Given the description of an element on the screen output the (x, y) to click on. 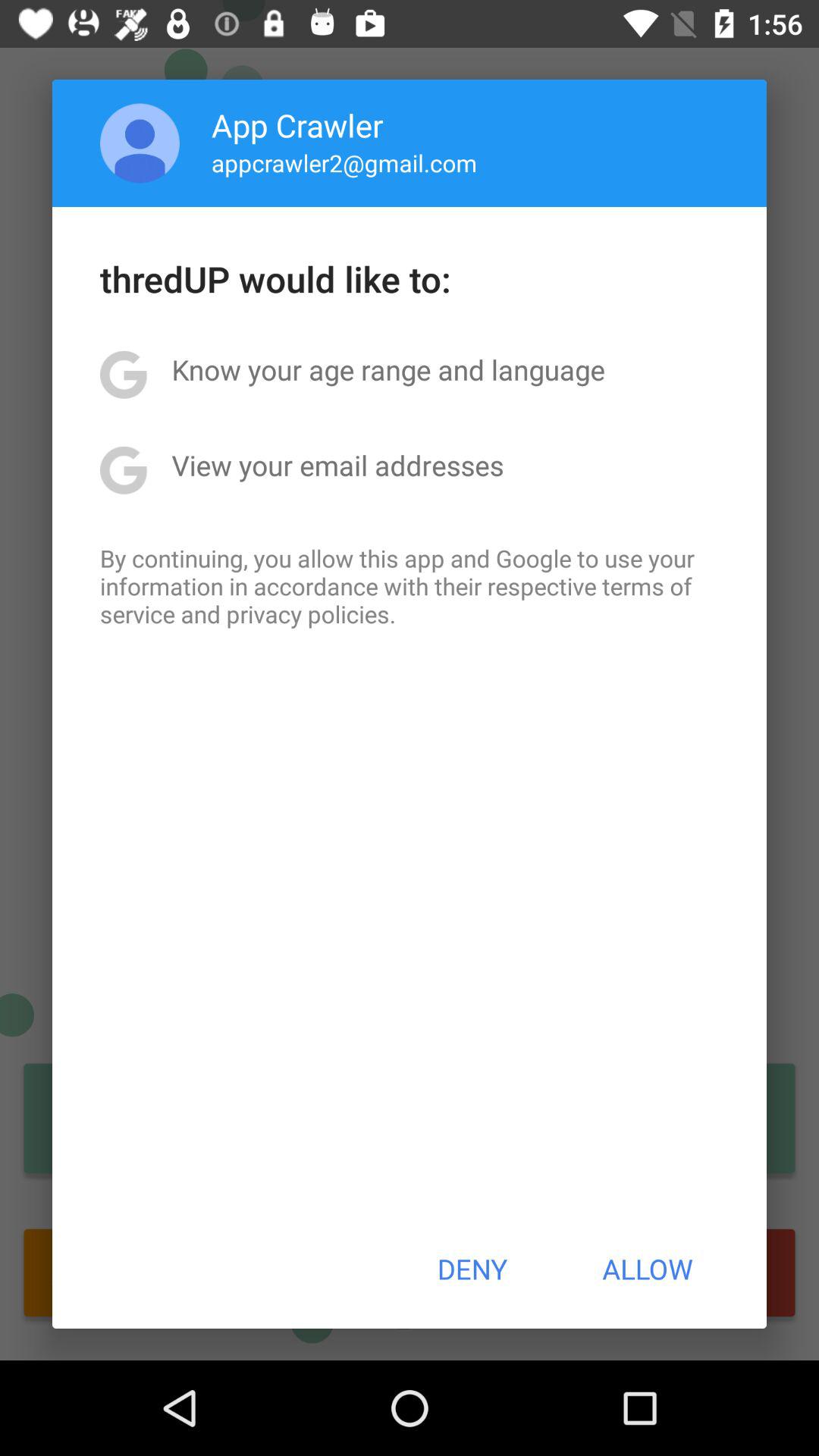
swipe to app crawler (297, 124)
